Given the description of an element on the screen output the (x, y) to click on. 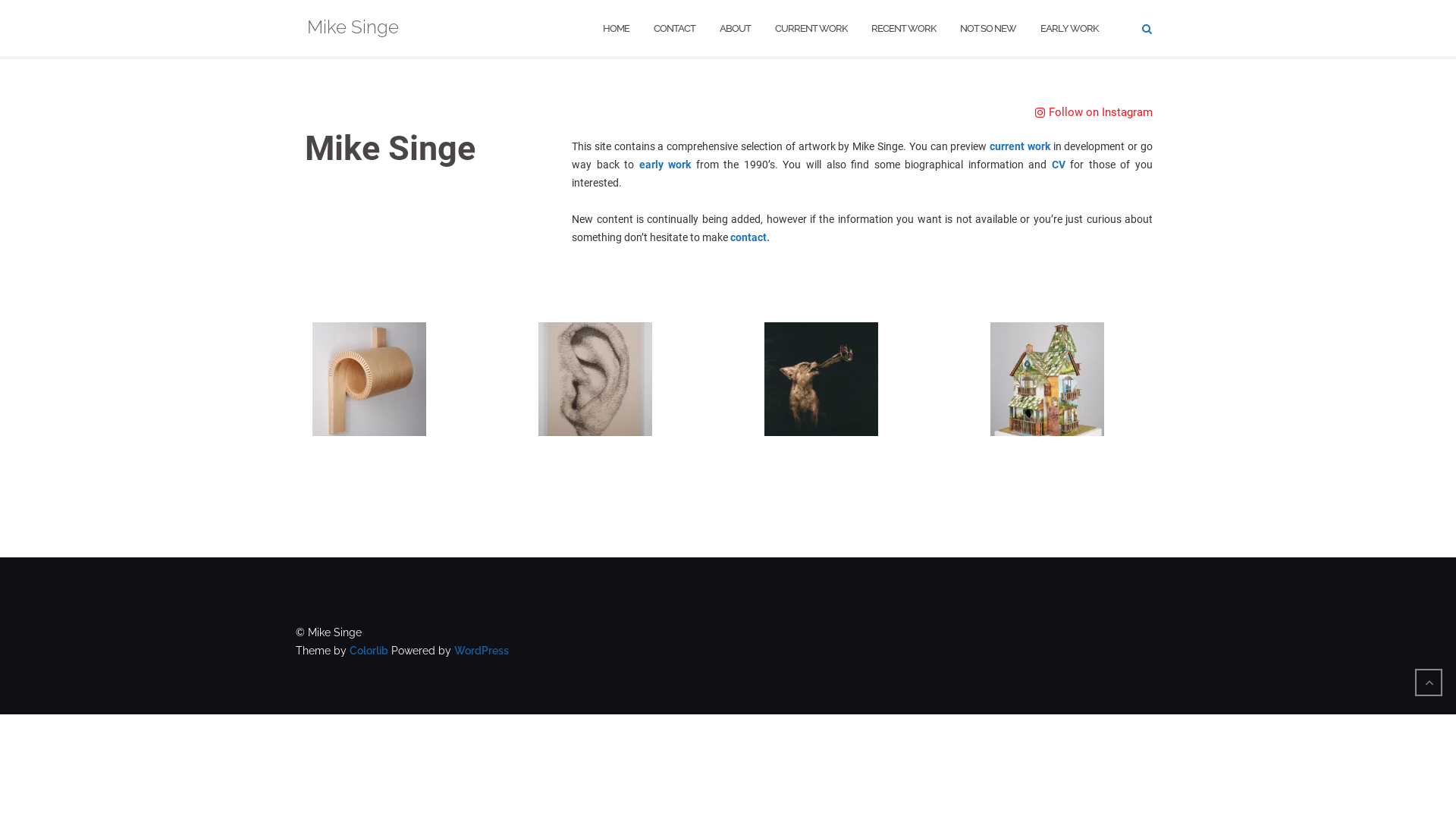
CONTACT Element type: text (674, 28)
Colorlib Element type: text (368, 650)
Follow on Instagram Element type: text (1093, 112)
CV Element type: text (1058, 164)
Mike Singe Element type: text (352, 28)
ABOUT Element type: text (734, 28)
CURRENT WORK Element type: text (811, 28)
current work Element type: text (1018, 146)
RECENT WORK Element type: text (903, 28)
HOME Element type: text (615, 28)
contact. Element type: text (749, 237)
early work Element type: text (665, 164)
NOT SO NEW Element type: text (988, 28)
EARLY WORK Element type: text (1069, 28)
WordPress Element type: text (481, 650)
